Given the description of an element on the screen output the (x, y) to click on. 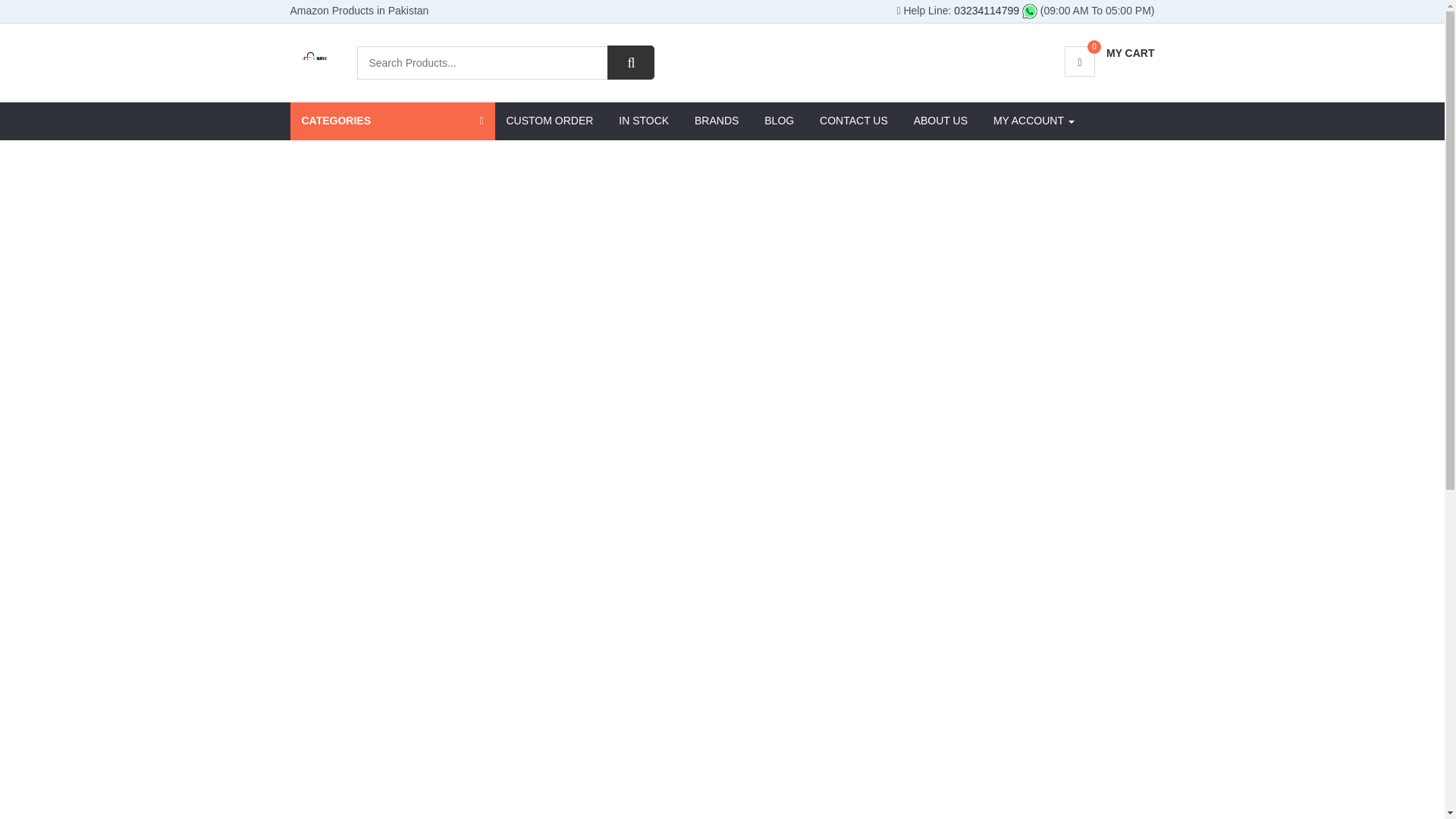
03234114799 (994, 10)
